Given the description of an element on the screen output the (x, y) to click on. 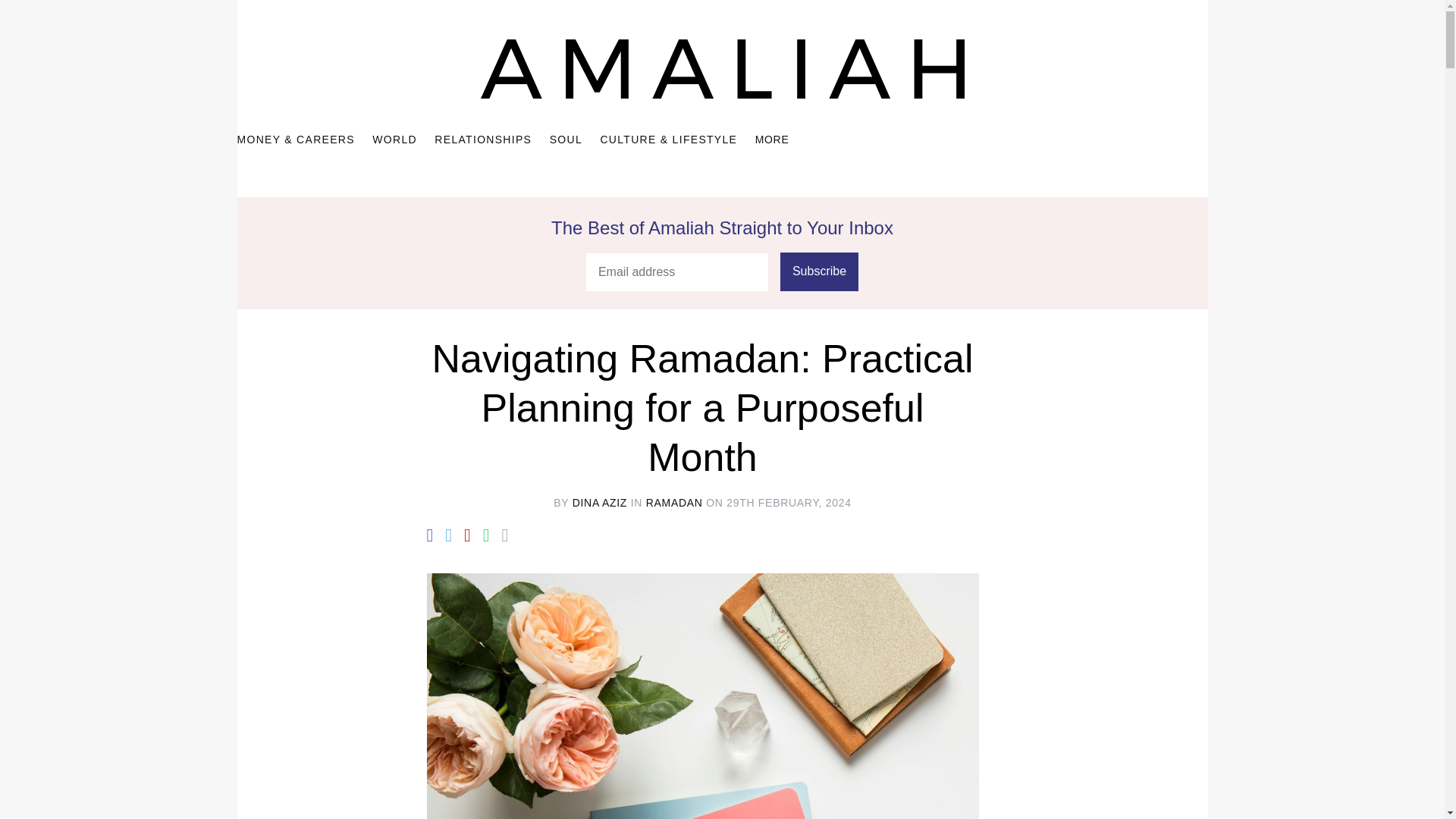
WORLD (394, 139)
RAMADAN (674, 502)
RELATIONSHIPS (482, 139)
DINA AZIZ (599, 502)
SOUL (566, 139)
Subscribe (819, 271)
Subscribe (819, 271)
MORE (772, 139)
